Given the description of an element on the screen output the (x, y) to click on. 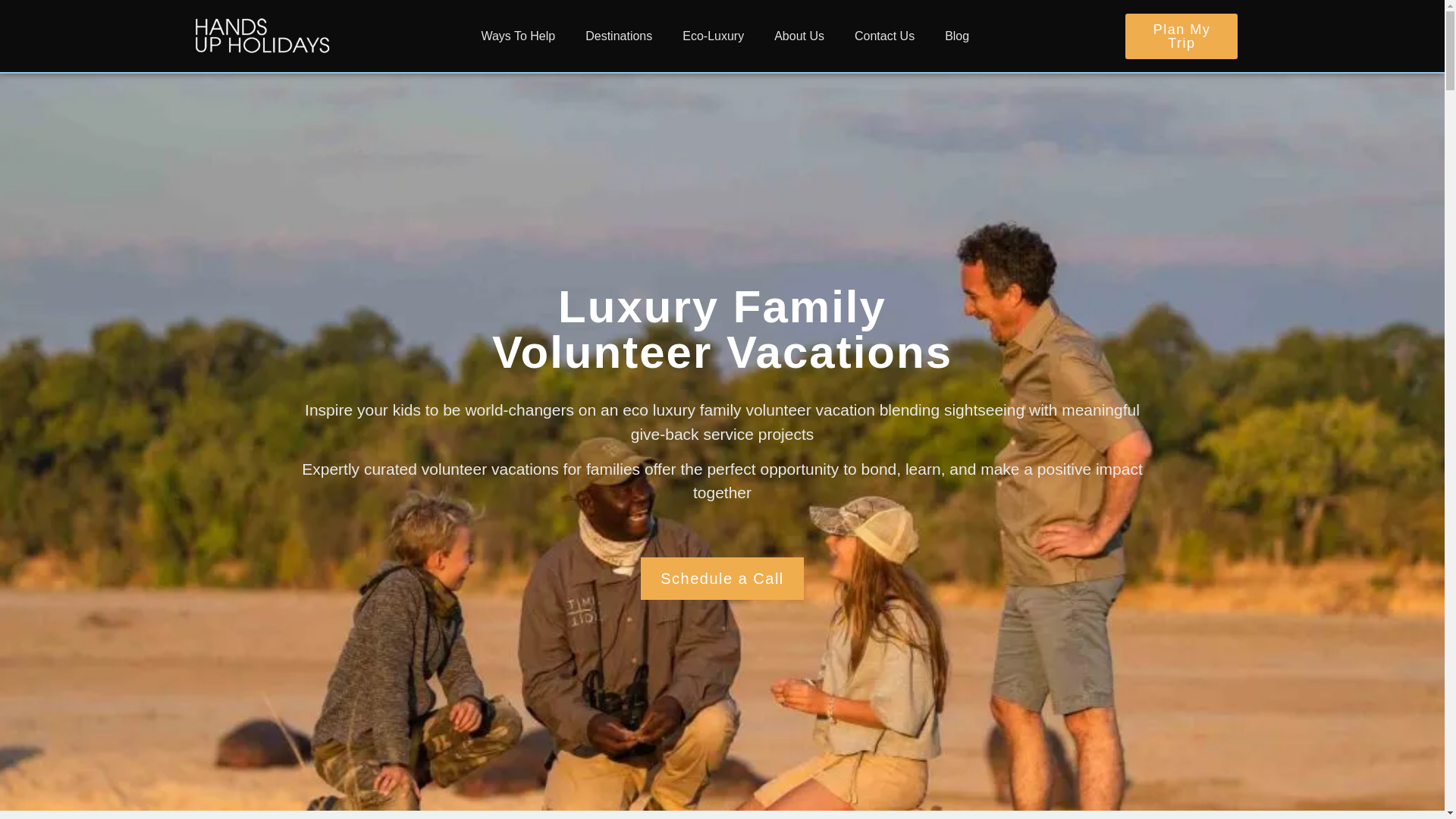
Schedule a Call (721, 578)
Plan My Trip (1181, 35)
Contact Us (885, 35)
Ways To Help (517, 35)
Blog (957, 35)
About Us (799, 35)
Destinations (618, 35)
Eco-Luxury (712, 35)
